Given the description of an element on the screen output the (x, y) to click on. 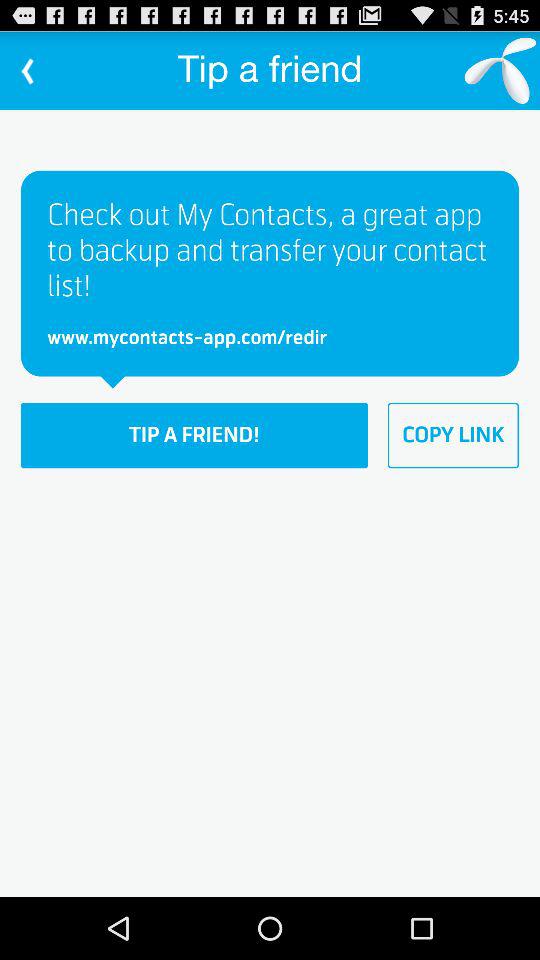
click item next to tip a friend! icon (453, 435)
